Given the description of an element on the screen output the (x, y) to click on. 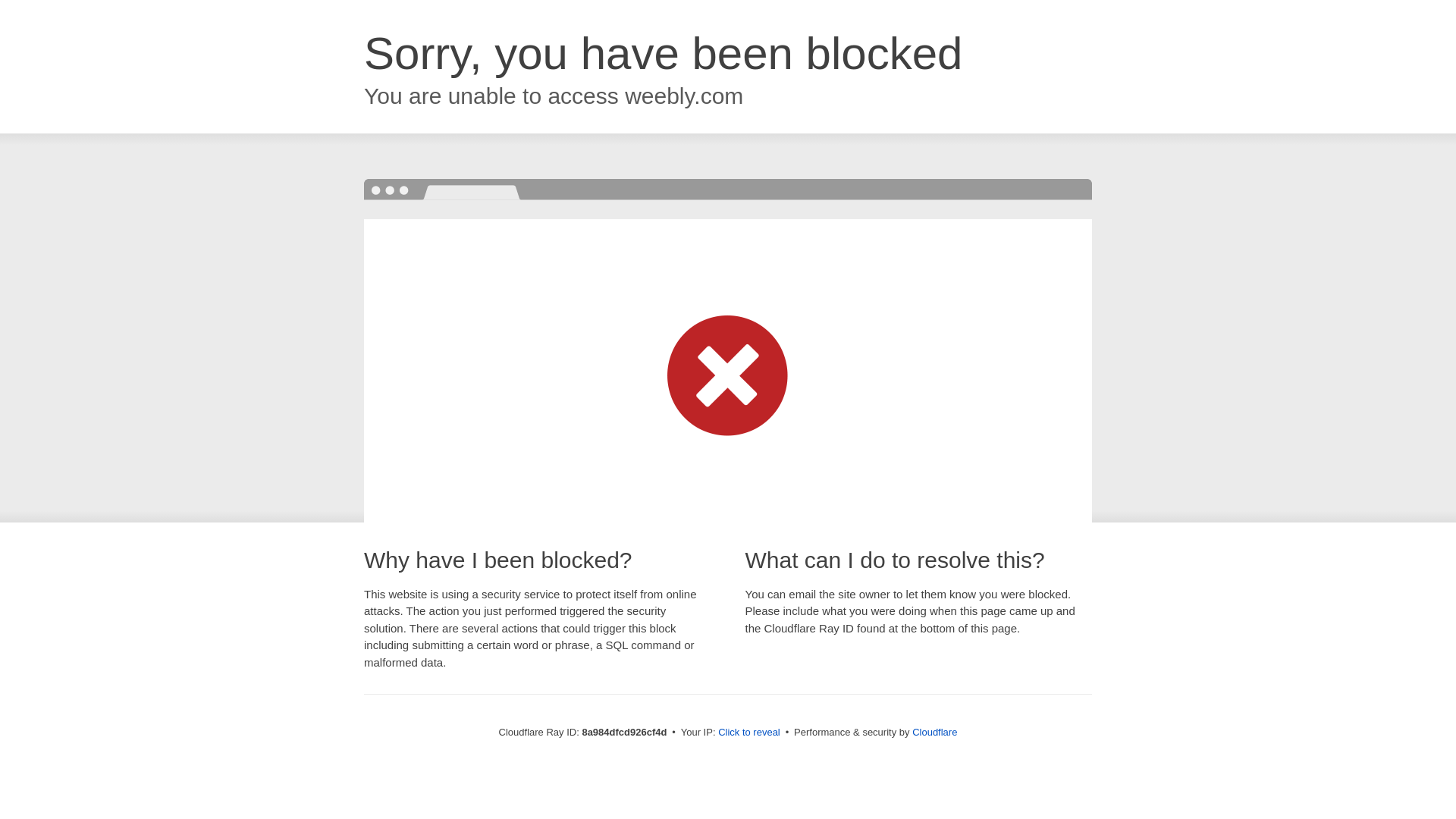
Click to reveal (748, 732)
Cloudflare (934, 731)
